Given the description of an element on the screen output the (x, y) to click on. 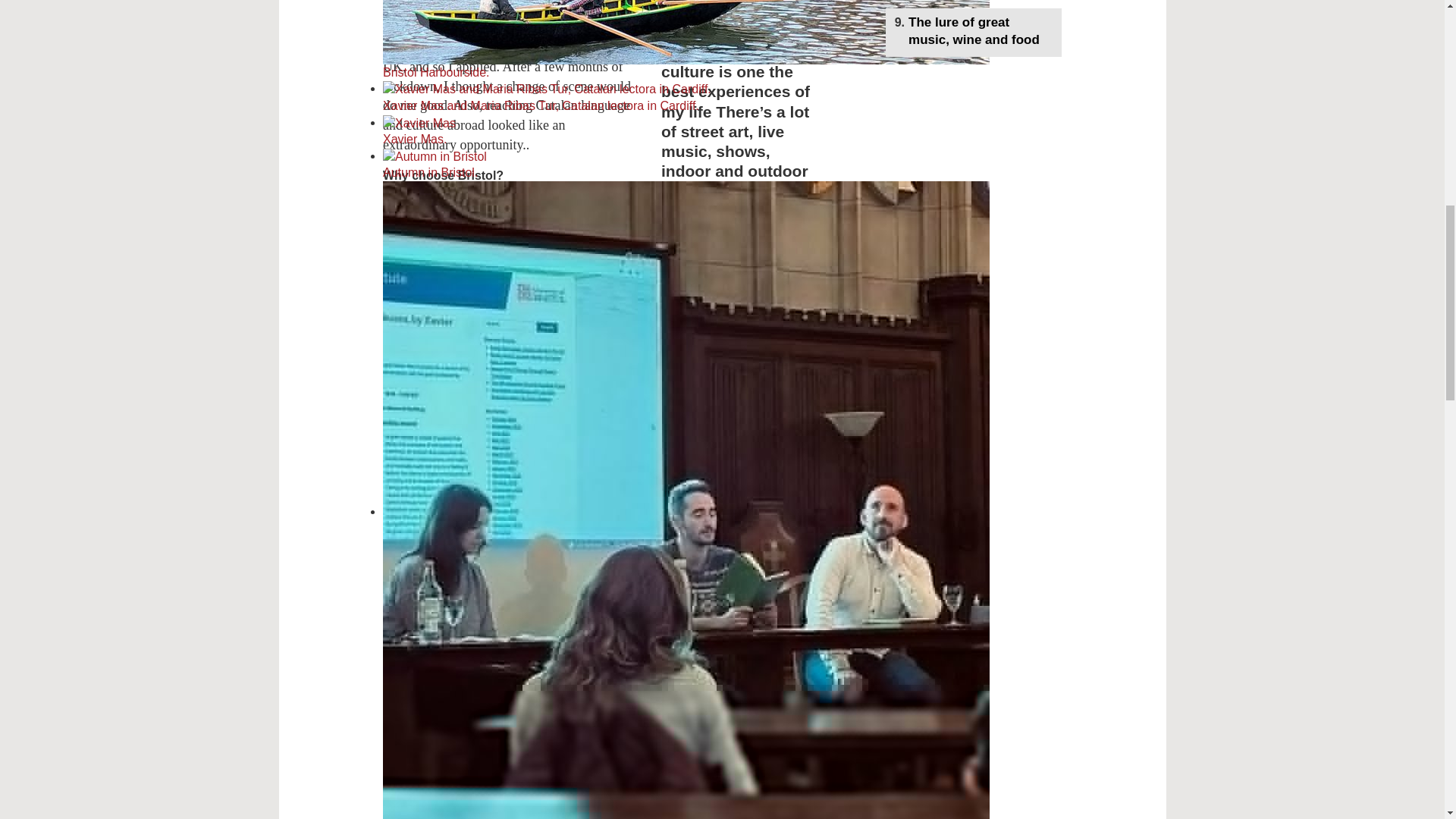
Bristol Harbourside (686, 40)
Xavier Mas and Maria Ribas Tur, Catalan lectora in Cardiff. (546, 89)
Bristol Harbourside (686, 32)
Xavier Mas and Maria Ribas Tur, Catalan lectora in Cardiff. (605, 97)
Xavier Mas (605, 132)
